Given the description of an element on the screen output the (x, y) to click on. 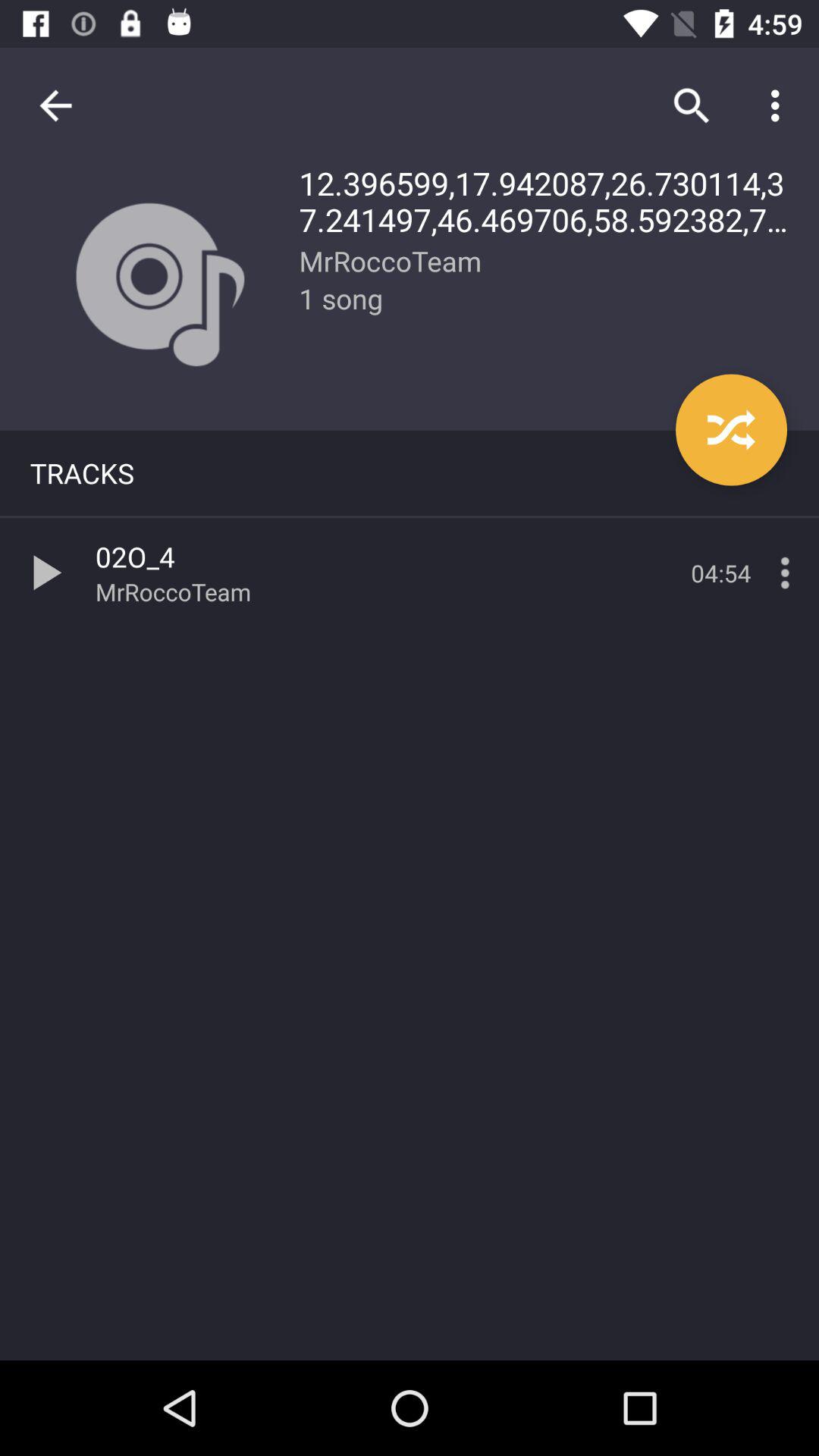
press the item below the 12 396599 17 (731, 429)
